Given the description of an element on the screen output the (x, y) to click on. 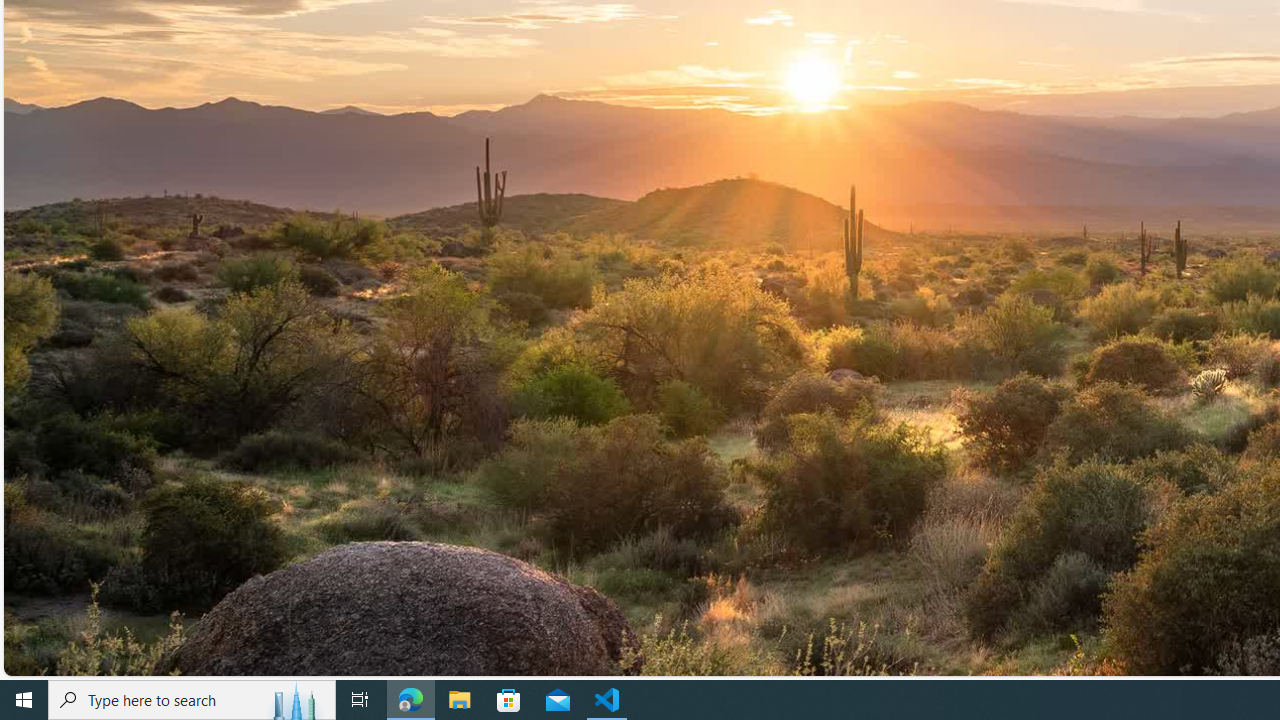
The Washington Post (526, 101)
Reuters (526, 27)
Forge of Empires (870, 380)
